Given the description of an element on the screen output the (x, y) to click on. 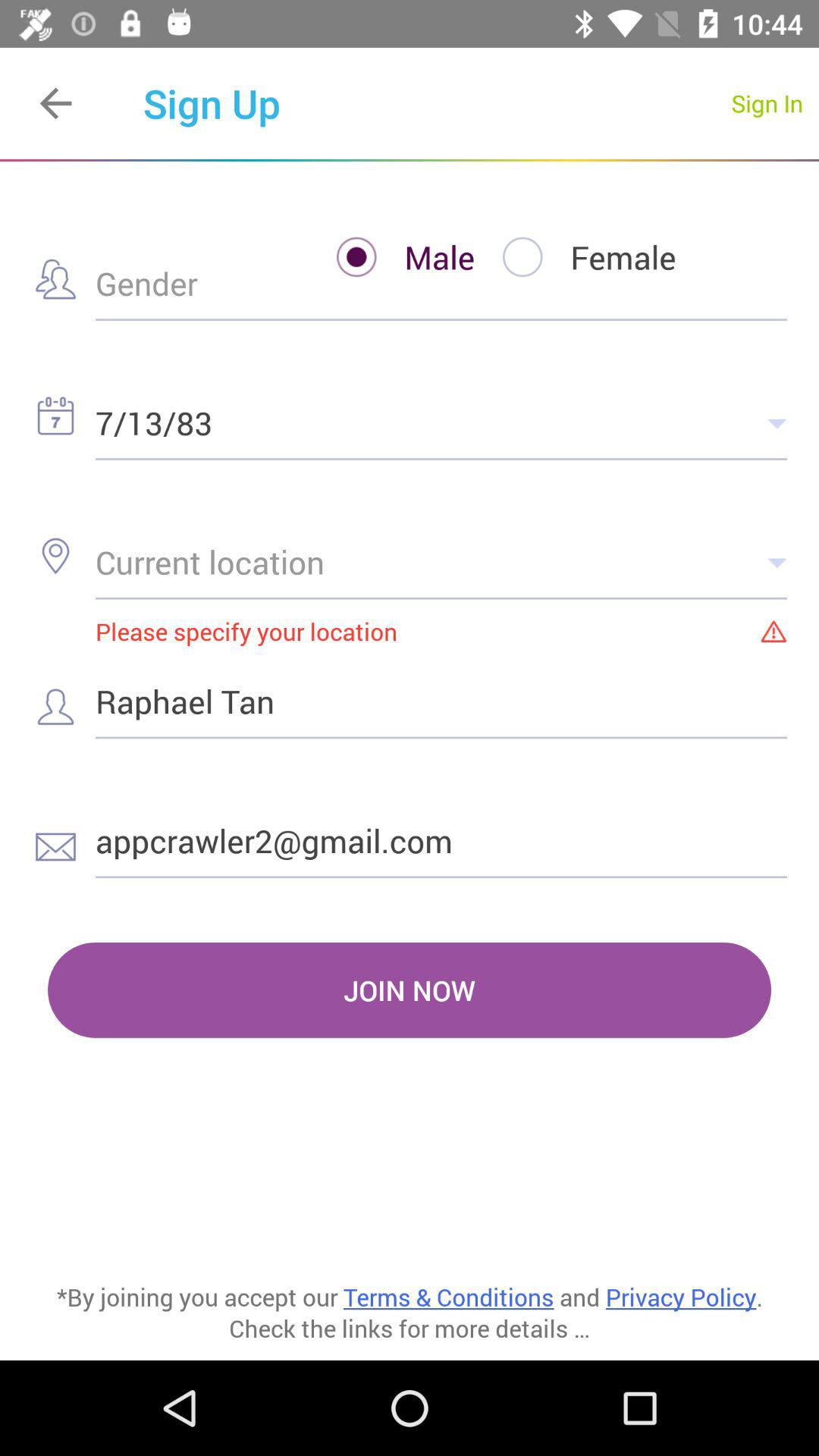
launch the sign in item (767, 103)
